Given the description of an element on the screen output the (x, y) to click on. 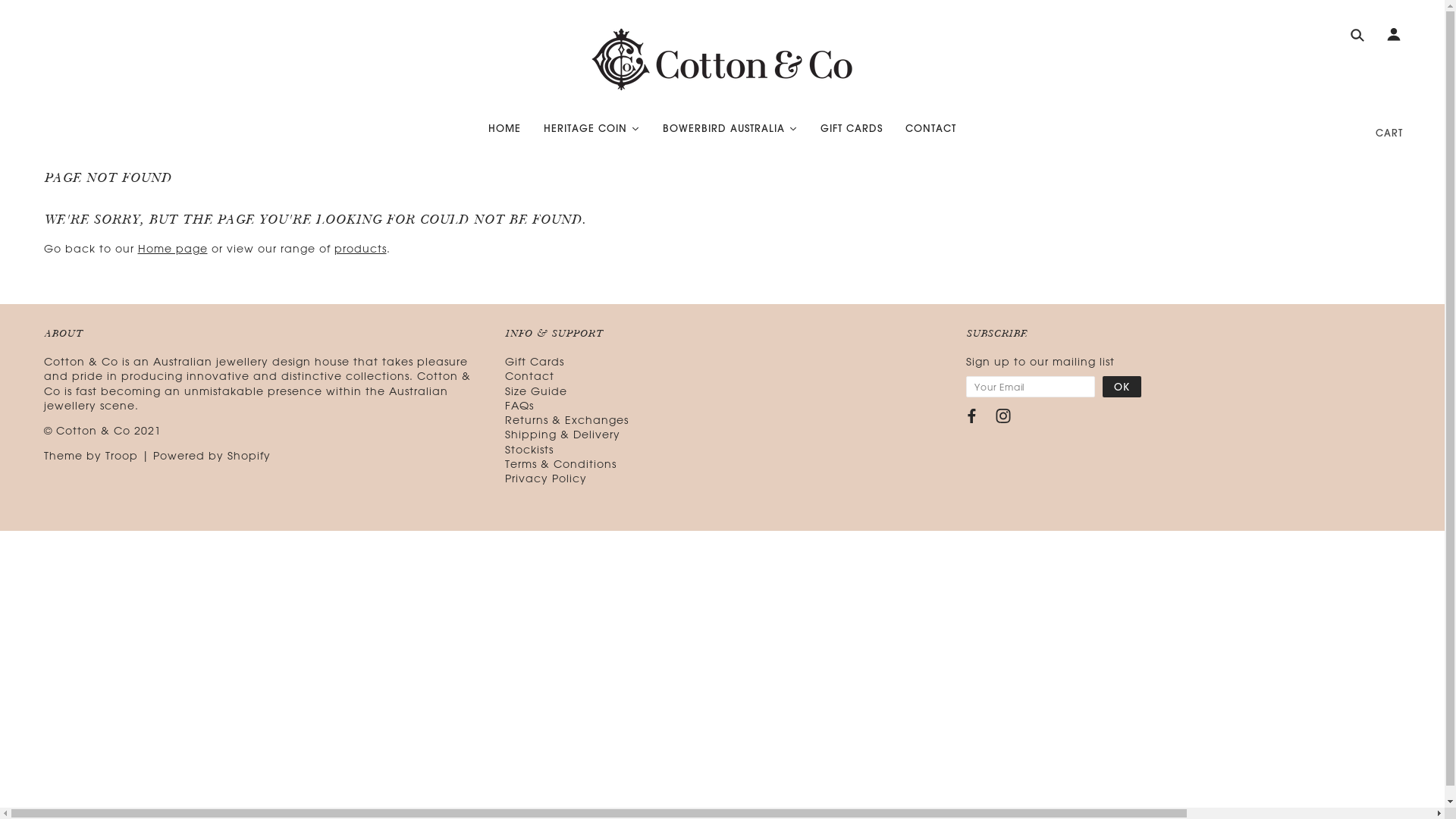
HERITAGE COIN Element type: text (591, 129)
Returns & Exchanges Element type: text (566, 419)
FAQs Element type: text (519, 404)
Privacy Policy Element type: text (545, 477)
Cotton & Co Australia Element type: hover (722, 60)
Contact Element type: text (529, 375)
Shipping & Delivery Element type: text (562, 433)
OK Element type: text (1121, 386)
HOME Element type: text (504, 129)
Gift Cards Element type: text (534, 360)
BOWERBIRD AUSTRALIA Element type: text (730, 129)
CART Element type: text (1388, 131)
Home page Element type: text (172, 247)
products Element type: text (359, 247)
Powered by Shopify Element type: text (211, 454)
Size Guide Element type: text (536, 390)
Theme by Troop Element type: text (90, 454)
Terms & Conditions Element type: text (560, 463)
CONTACT Element type: text (930, 129)
Cotton & Co Element type: text (93, 429)
GIFT CARDS Element type: text (851, 129)
Stockists Element type: text (529, 448)
